Given the description of an element on the screen output the (x, y) to click on. 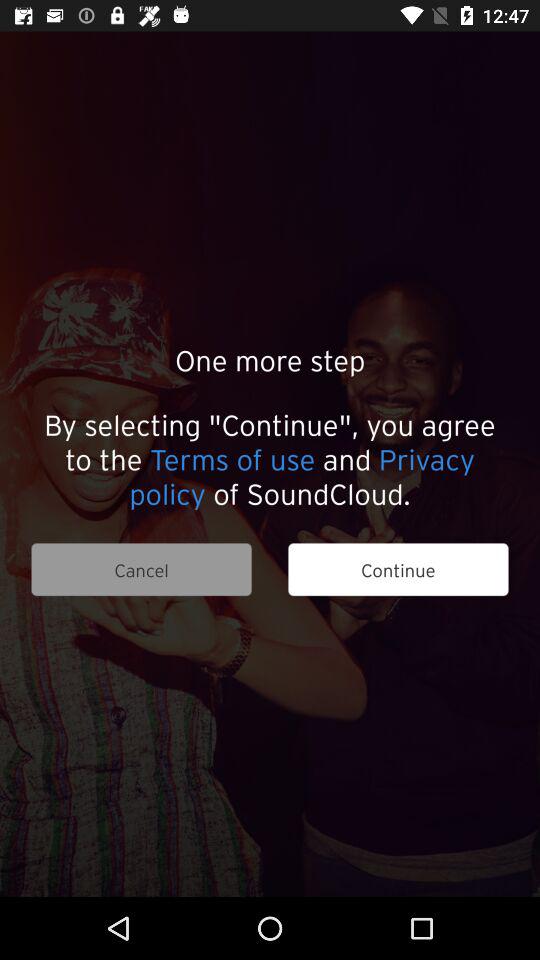
launch cancel icon (141, 569)
